Given the description of an element on the screen output the (x, y) to click on. 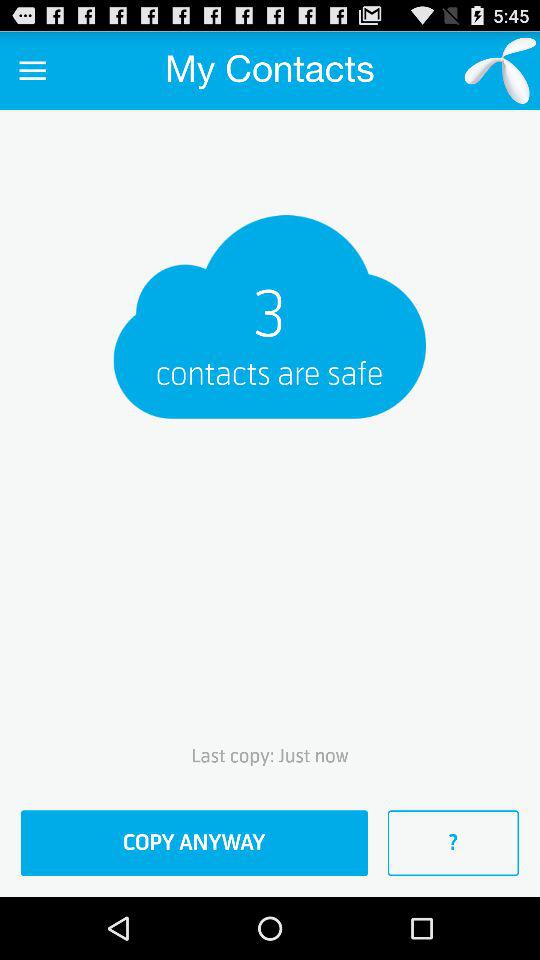
open the  ?  icon (453, 843)
